Given the description of an element on the screen output the (x, y) to click on. 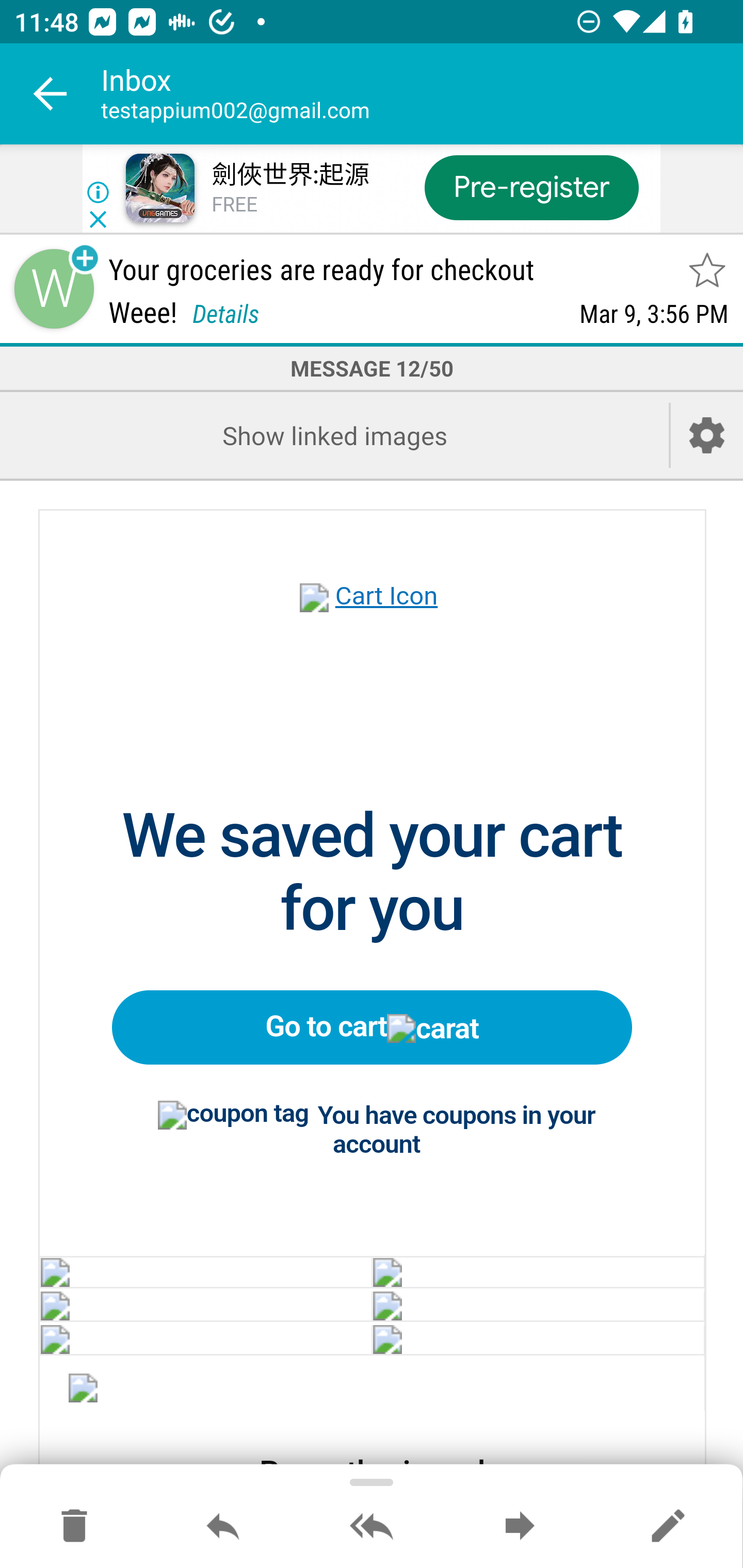
Navigate up (50, 93)
Inbox testappium002@gmail.com (422, 93)
Pre-register (530, 187)
劍俠世界:起源 (289, 175)
Sender contact button (53, 289)
Show linked images (334, 435)
Account setup (706, 435)
click?upn=u001 (372, 619)
data: (205, 1271)
data: (538, 1271)
data: (205, 1305)
data: (538, 1305)
data: (205, 1338)
data: (538, 1338)
data: (83, 1390)
Move to Deleted (74, 1527)
Reply (222, 1527)
Reply all (371, 1527)
Forward (519, 1527)
Reply as new (667, 1527)
